Given the description of an element on the screen output the (x, y) to click on. 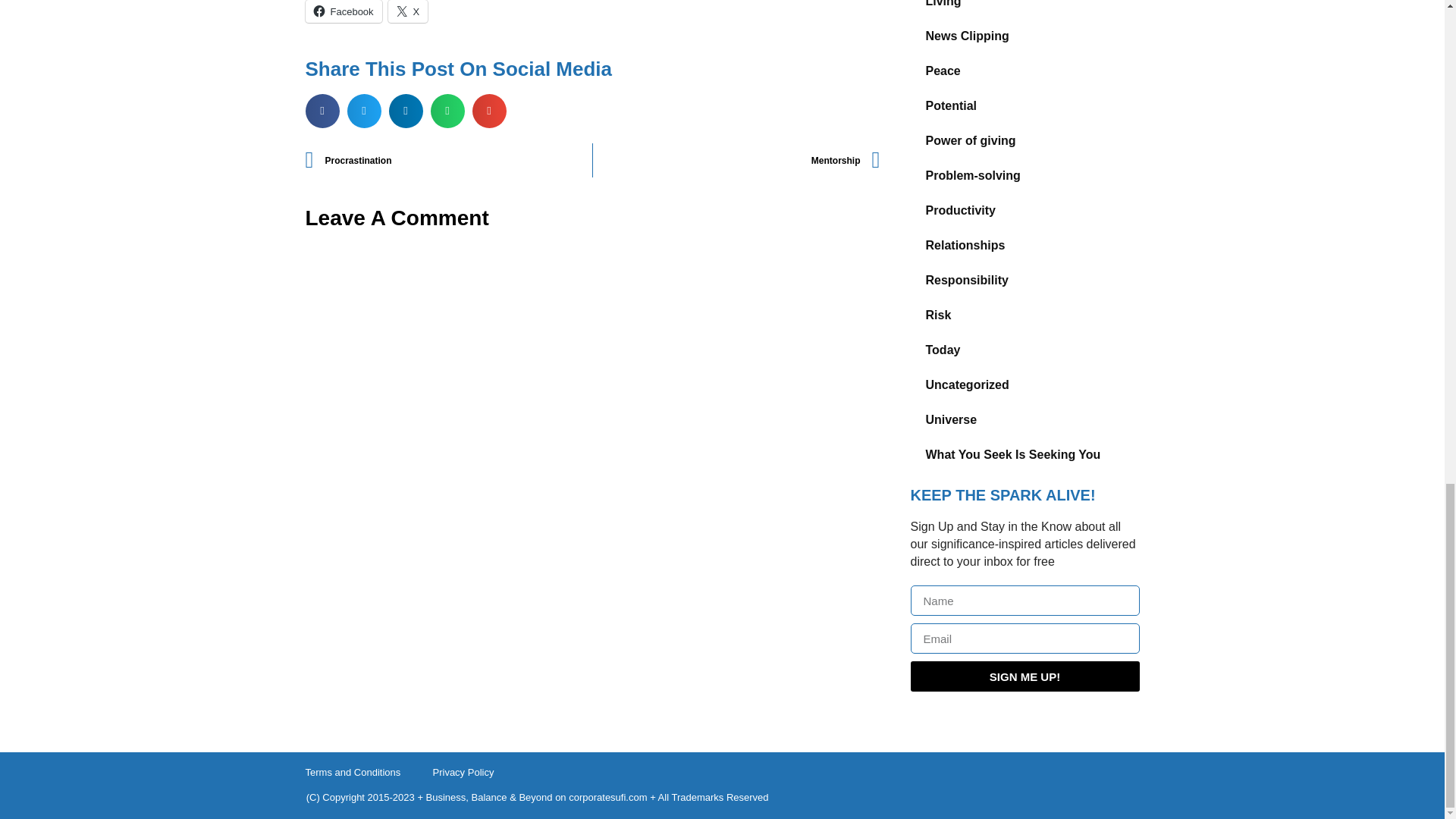
Click to share on X (408, 11)
Mentorship (736, 160)
Procrastination (448, 160)
Click to share on Facebook (342, 11)
X (408, 11)
Facebook (342, 11)
